Given the description of an element on the screen output the (x, y) to click on. 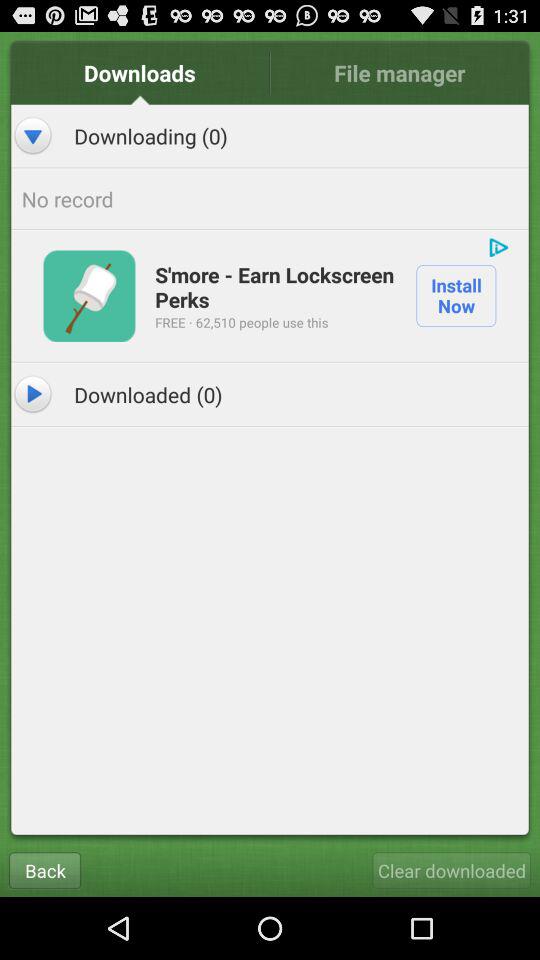
choose the app below the no record (498, 247)
